Given the description of an element on the screen output the (x, y) to click on. 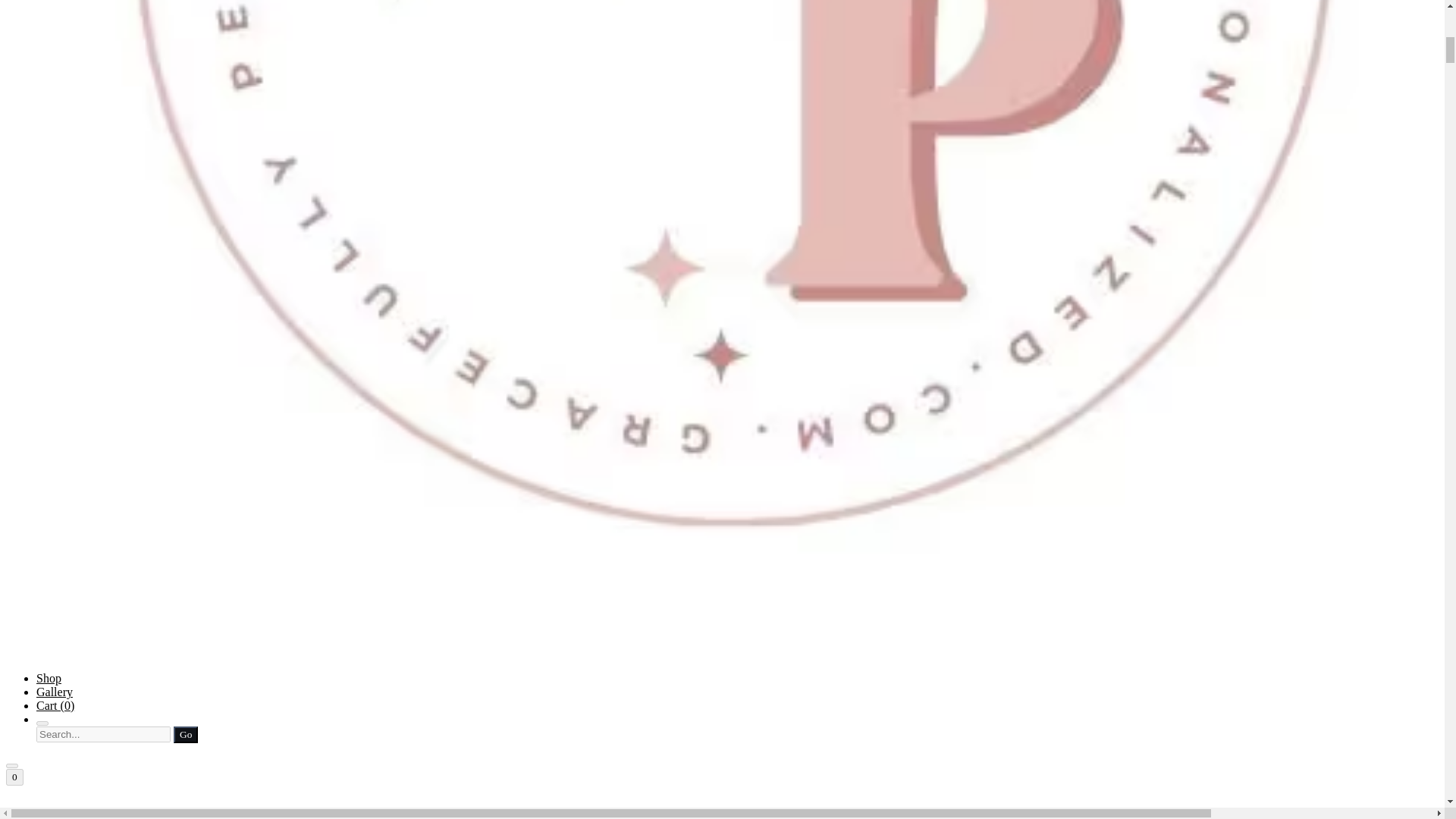
Go (185, 734)
0 (14, 777)
Go (185, 734)
Shop (48, 677)
Home (721, 809)
Gallery (54, 691)
